Given the description of an element on the screen output the (x, y) to click on. 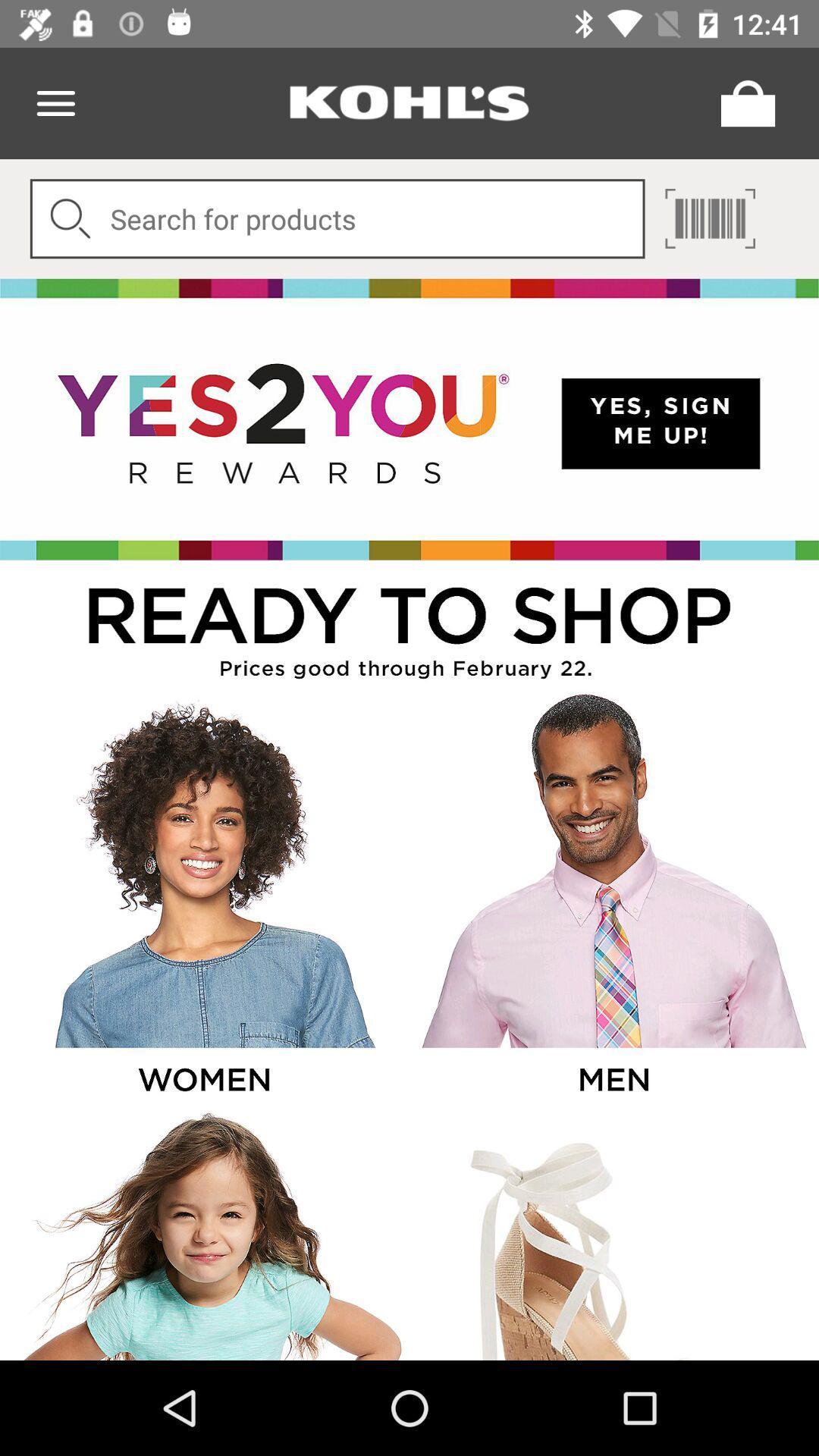
barcode (710, 218)
